Given the description of an element on the screen output the (x, y) to click on. 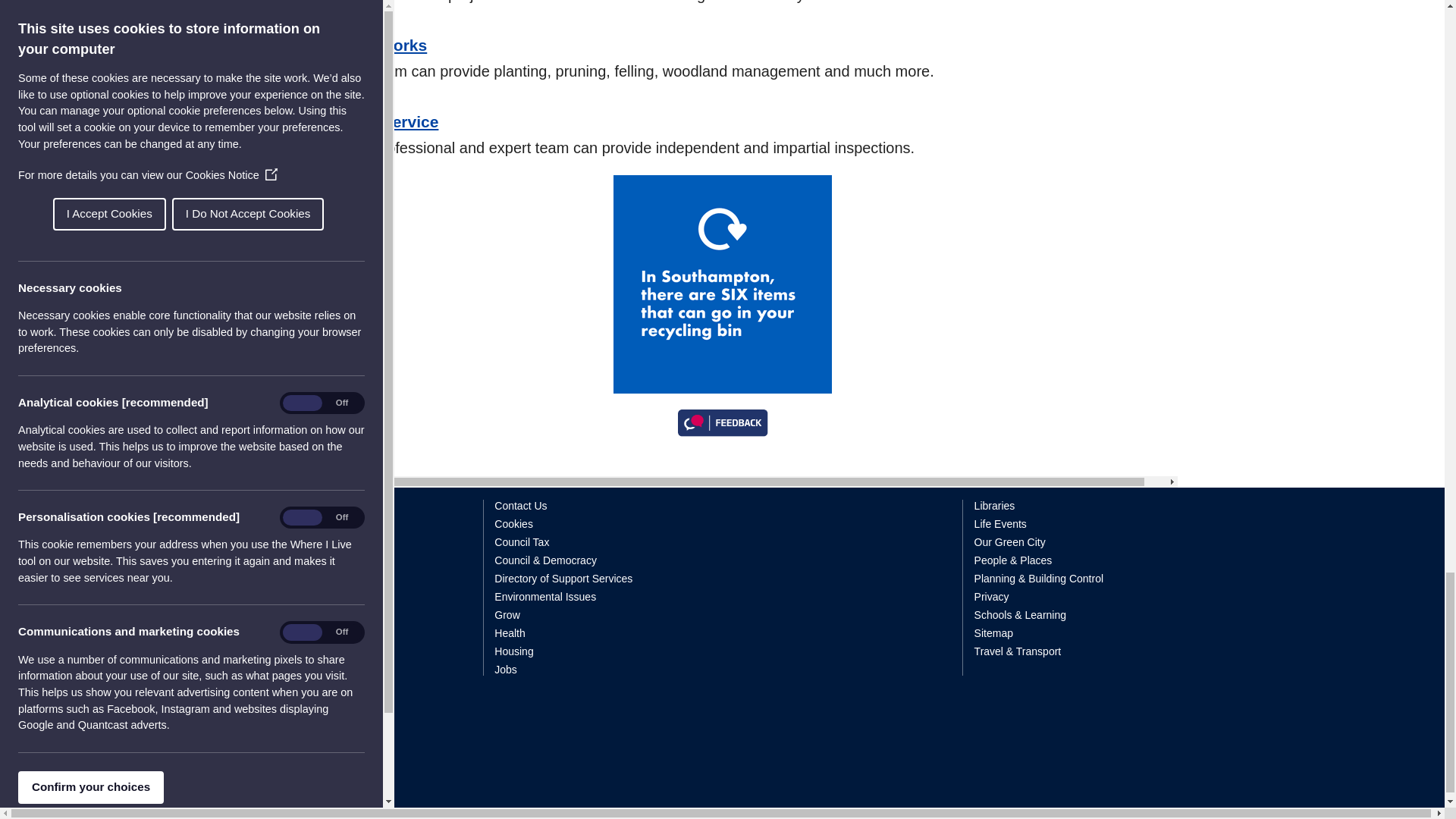
Landscaping icon (304, 11)
Commercial tree work services (385, 45)
Tree works icon (304, 60)
